Given the description of an element on the screen output the (x, y) to click on. 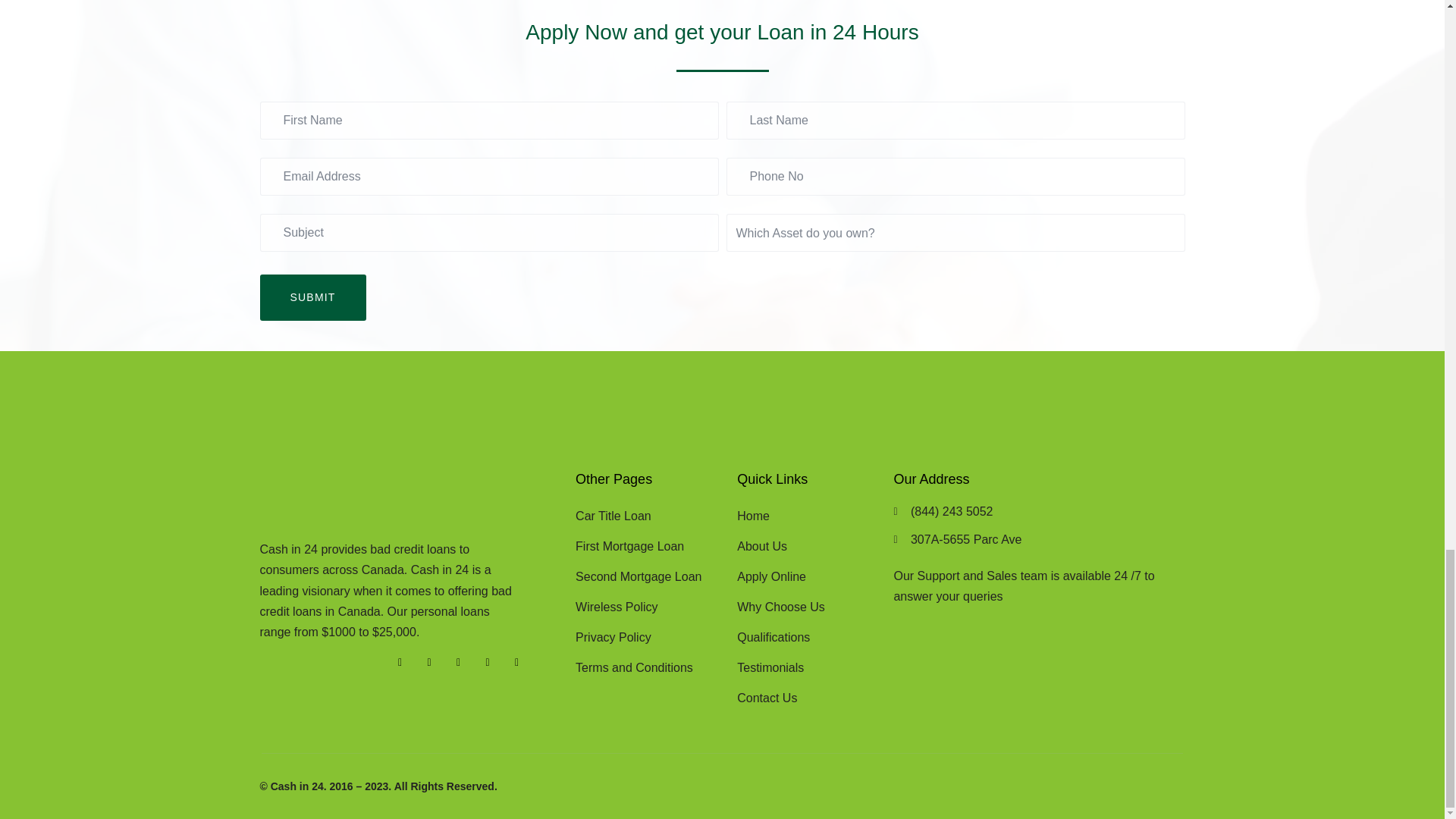
Submit (312, 297)
